Given the description of an element on the screen output the (x, y) to click on. 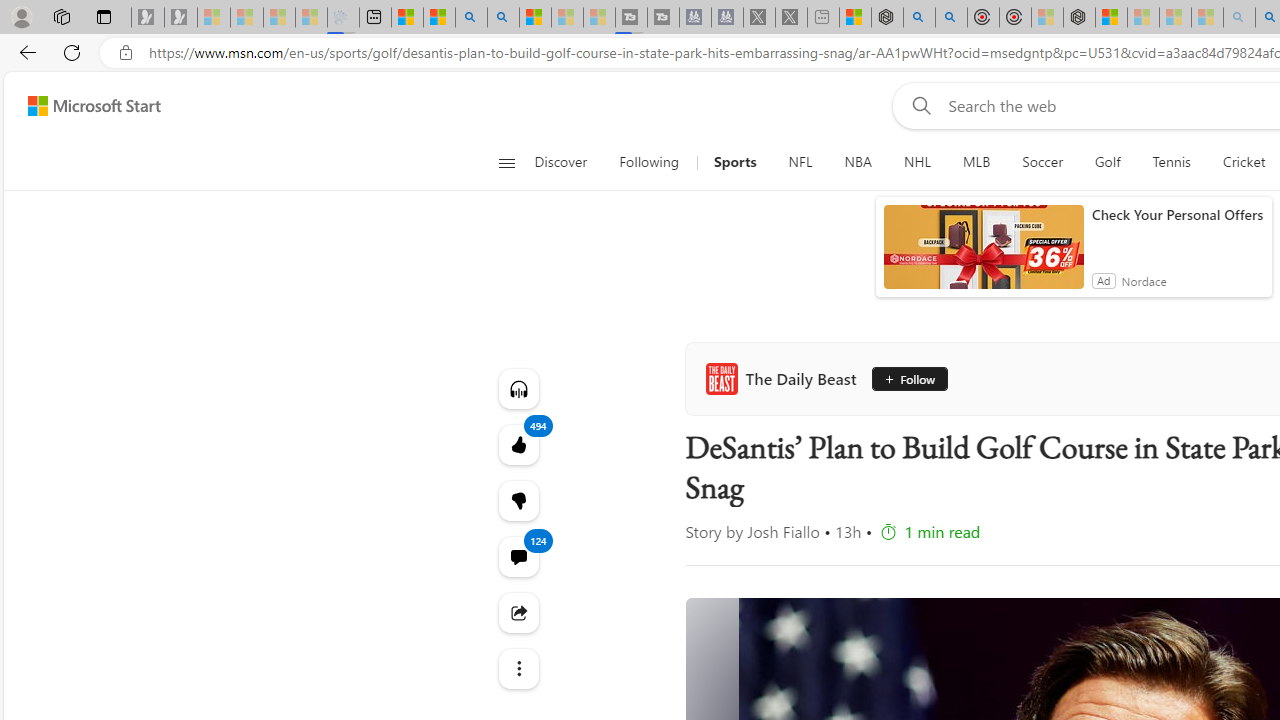
Streaming Coverage | T3 - Sleeping (630, 17)
Share this story (517, 612)
Ad (1103, 280)
poe ++ standard - Search (950, 17)
Cricket (1243, 162)
Open navigation menu (506, 162)
NHL (917, 162)
Sports (735, 162)
Golf (1107, 162)
Soccer (1042, 162)
Nordace (1144, 280)
